Given the description of an element on the screen output the (x, y) to click on. 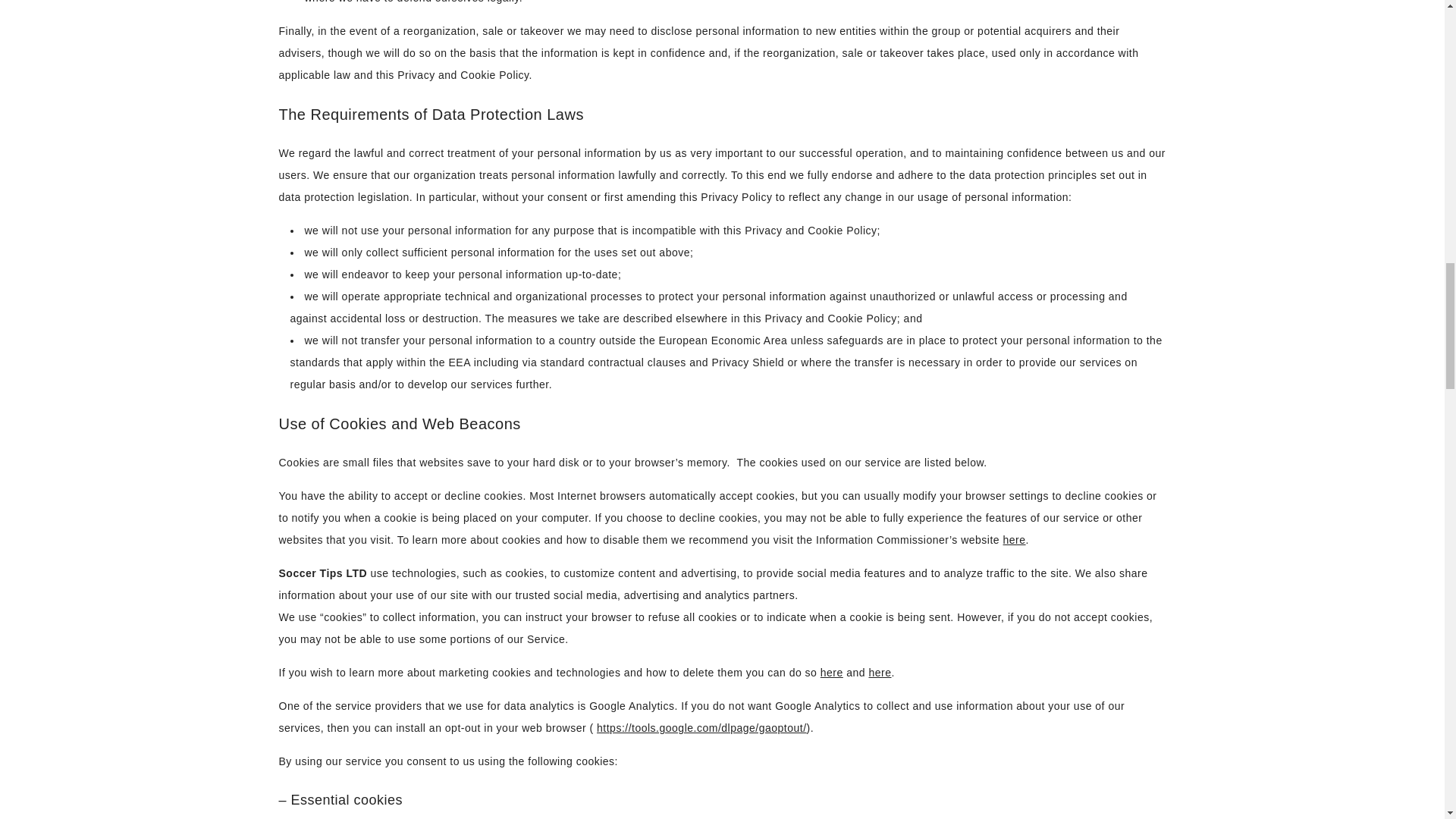
here (832, 672)
here (1014, 539)
here (879, 672)
